Given the description of an element on the screen output the (x, y) to click on. 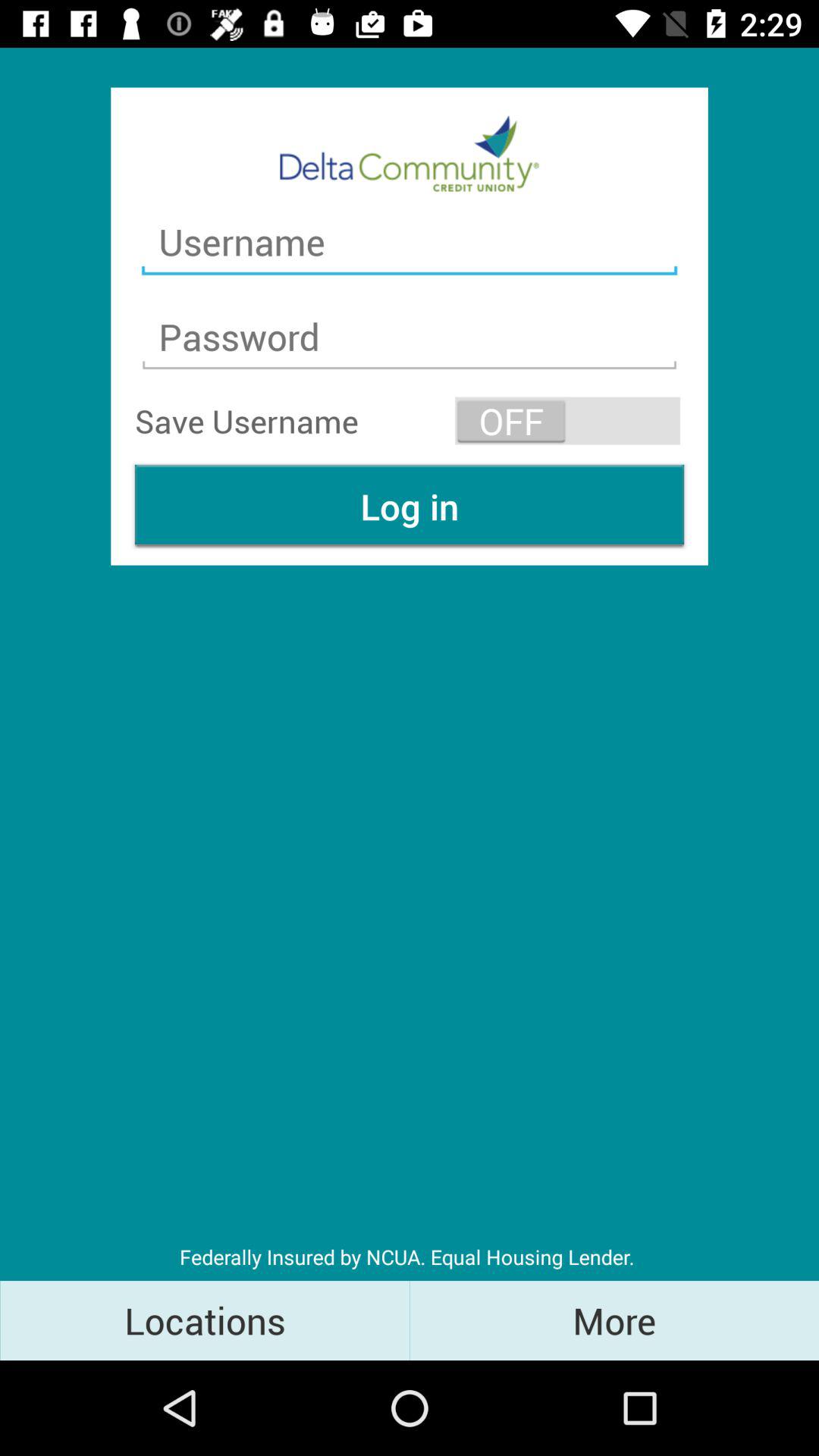
click more item (614, 1320)
